Given the description of an element on the screen output the (x, y) to click on. 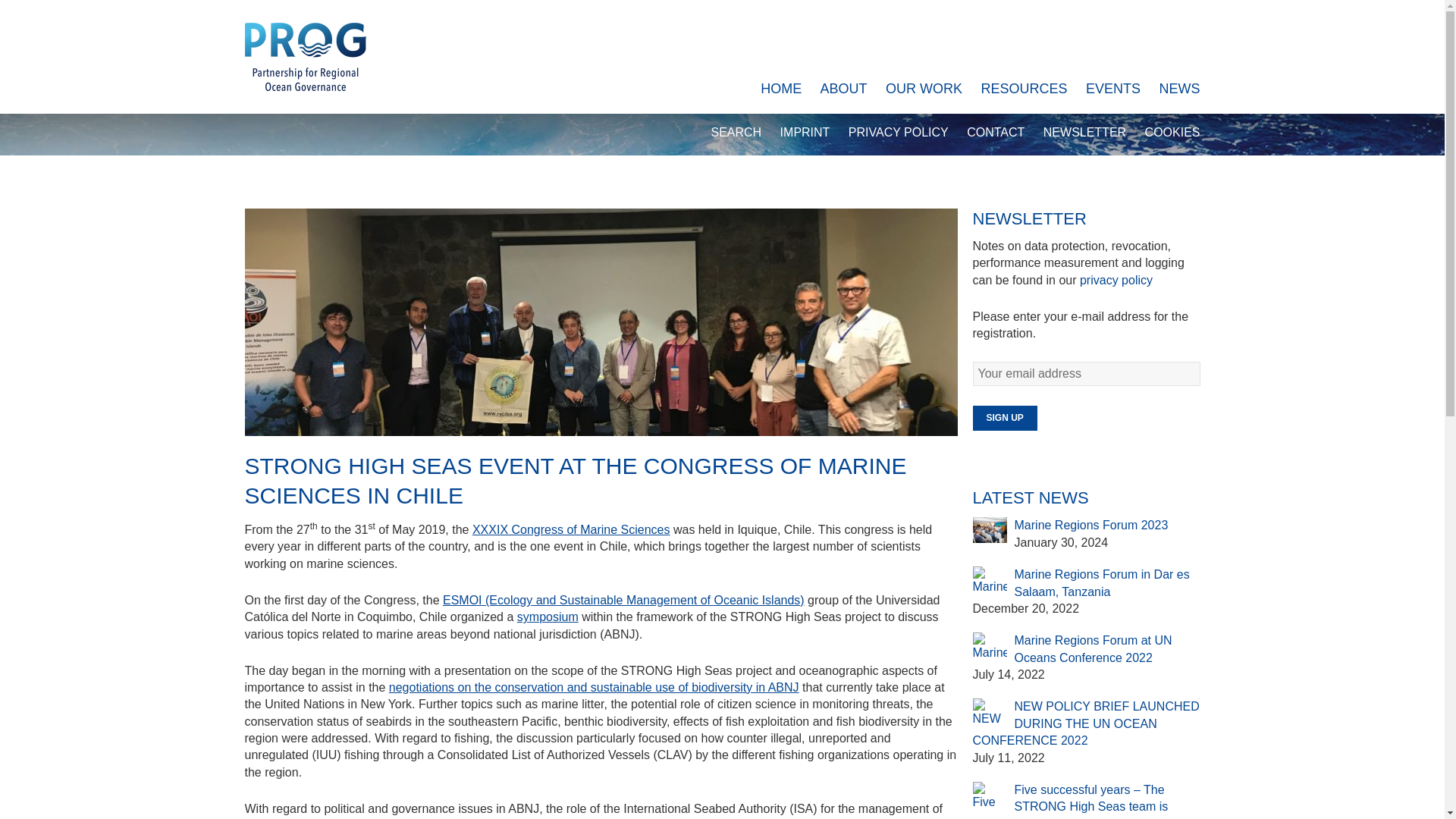
symposium (547, 616)
CONTACT (995, 132)
privacy policy (1116, 279)
Marine Regions Forum 2023 (1091, 524)
COOKIES (1171, 132)
SEARCH (735, 132)
ABOUT (844, 88)
EVENTS (1113, 88)
HOME (781, 88)
NEWSLETTER (1084, 132)
Sign up (1004, 417)
Marine Regions Forum in Dar es Salaam, Tanzania (1101, 582)
IMPRINT (804, 132)
NEWS (1178, 88)
